Given the description of an element on the screen output the (x, y) to click on. 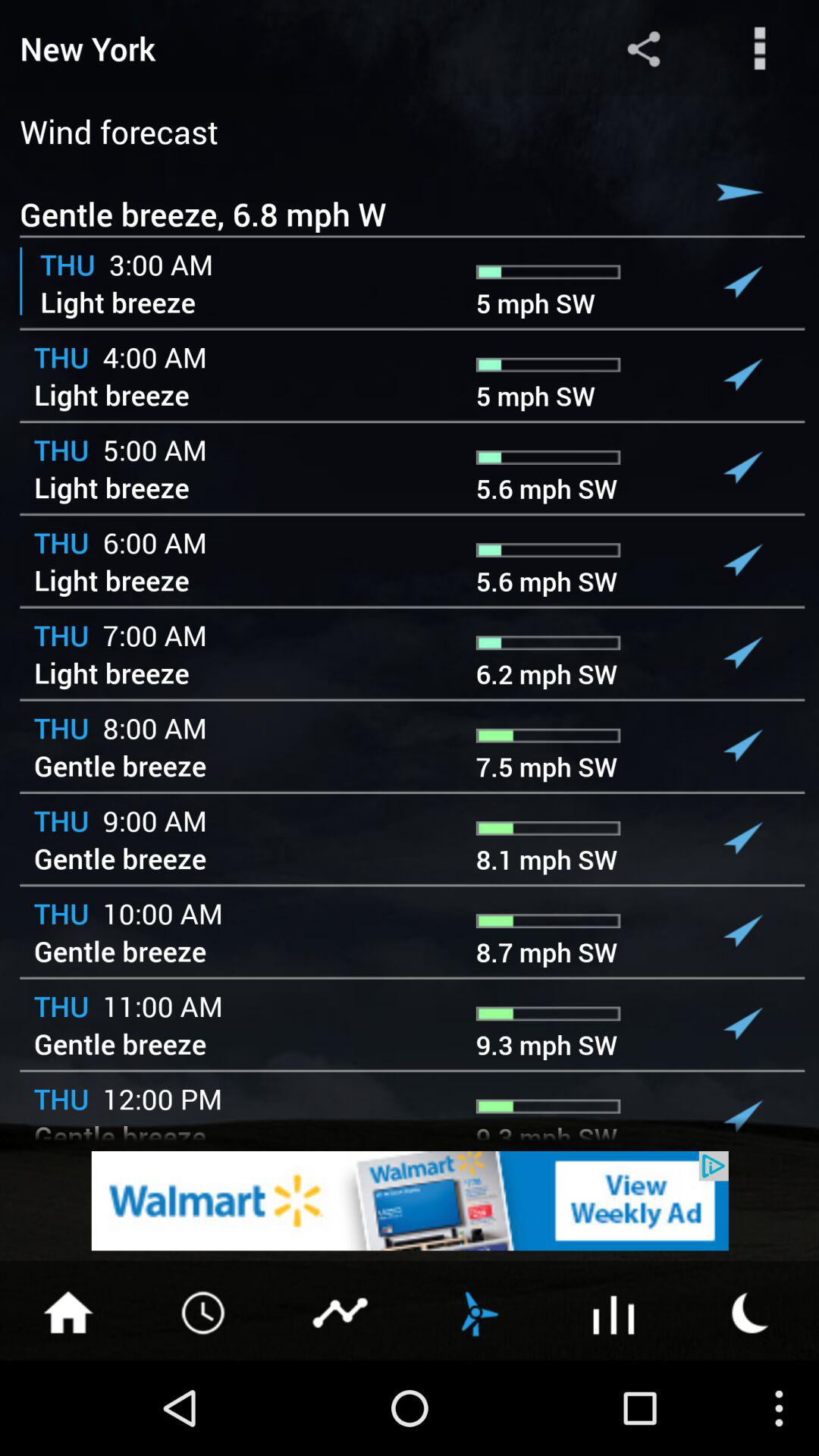
night mode (750, 1311)
